Given the description of an element on the screen output the (x, y) to click on. 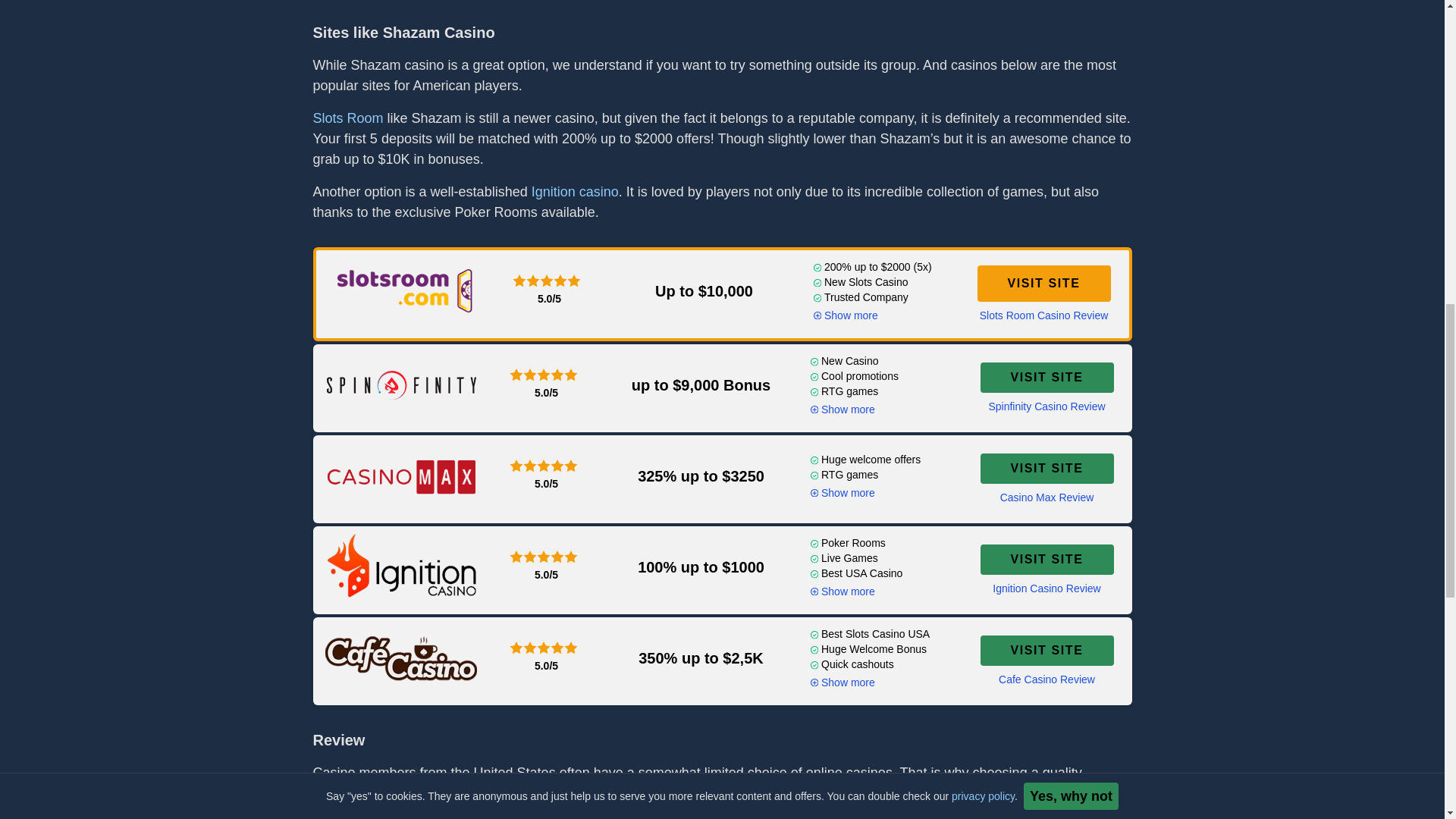
Show more (844, 314)
Slots Room (347, 118)
Slots Room Casino Review (1043, 314)
VISIT SITE (1042, 283)
Ignition casino (574, 191)
